Given the description of an element on the screen output the (x, y) to click on. 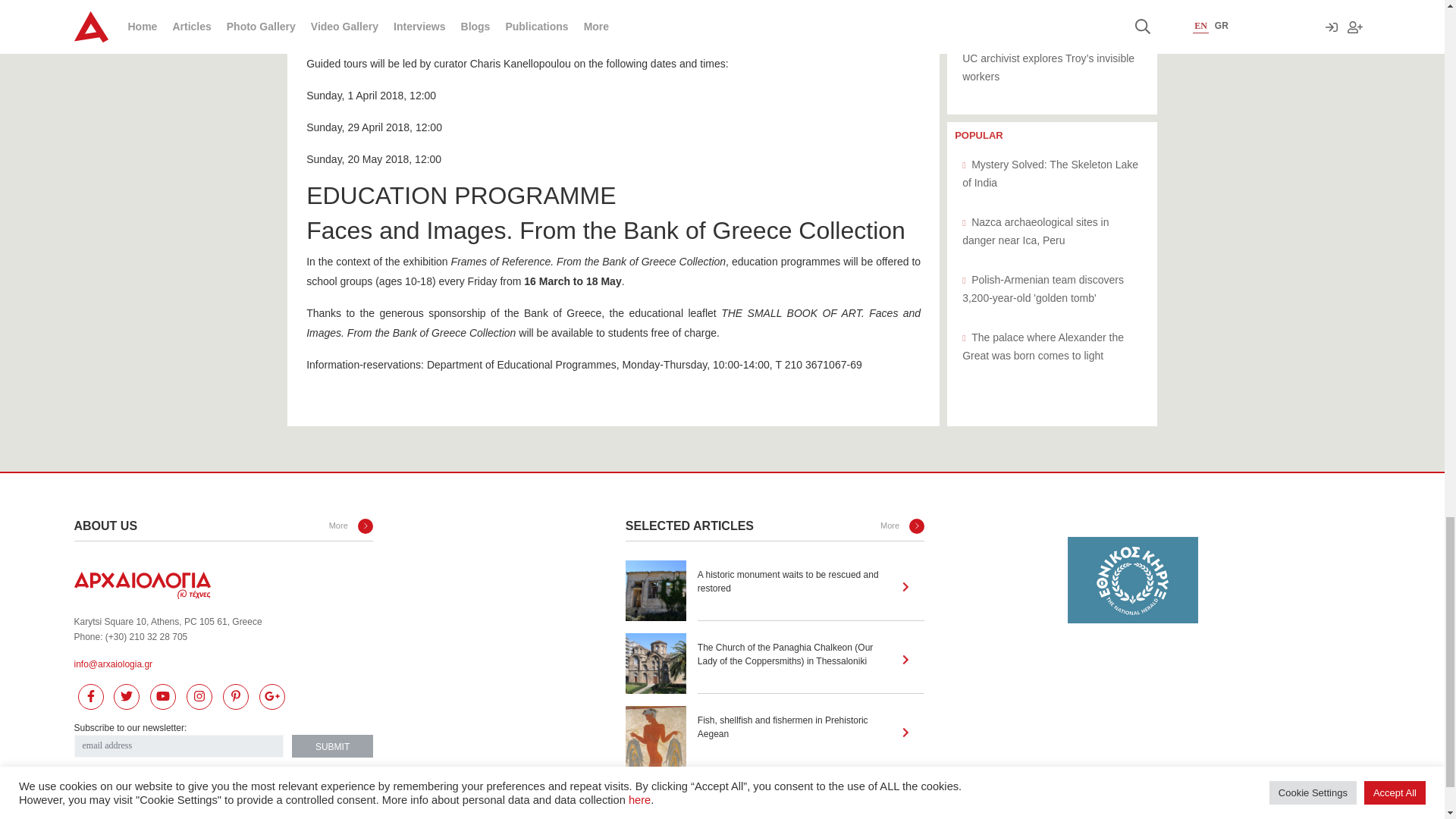
Archaeology Wiki (223, 584)
